Given the description of an element on the screen output the (x, y) to click on. 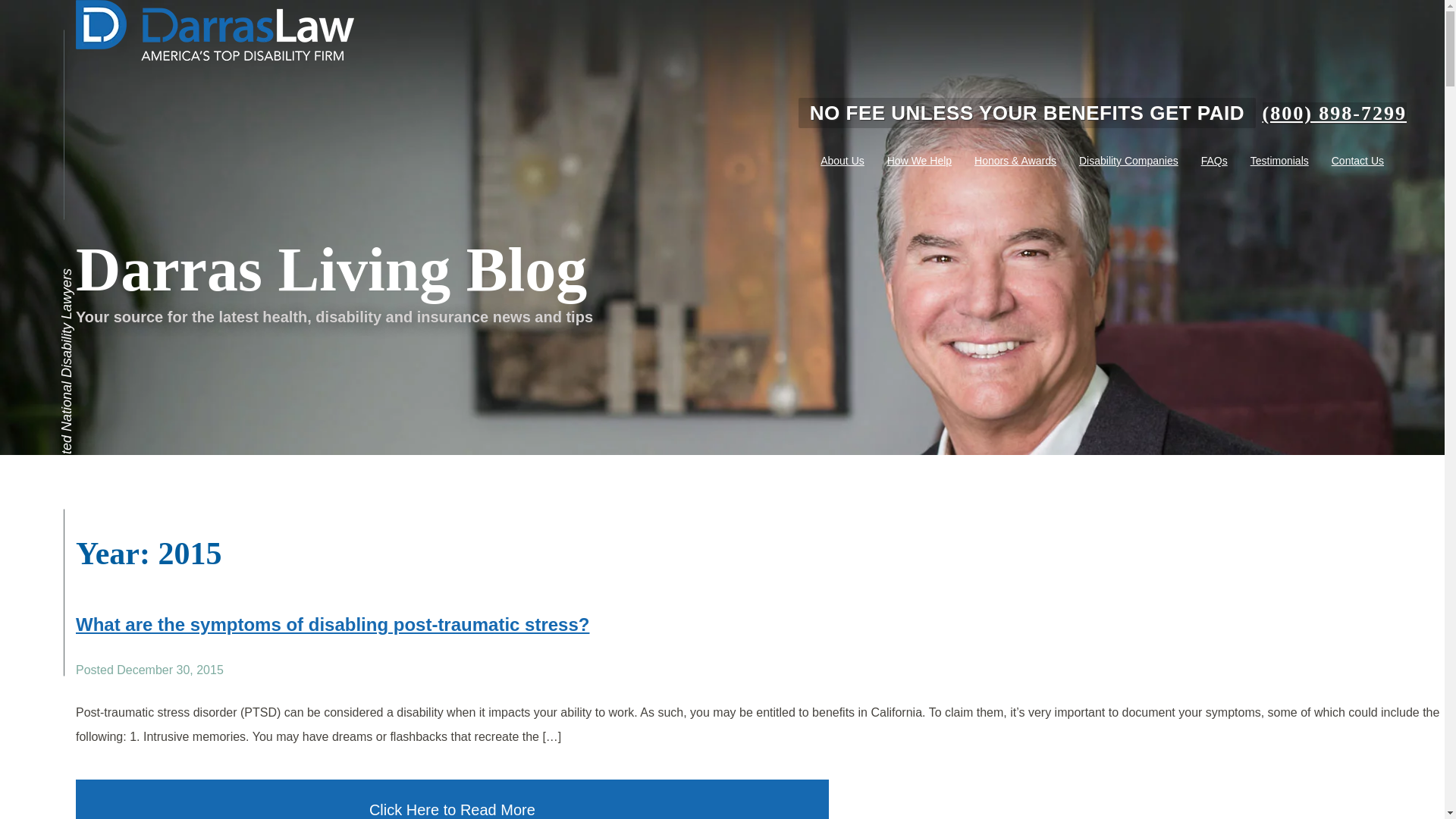
About Us (842, 160)
Disability Companies (1128, 160)
Read more (332, 624)
How We Help (919, 160)
